Given the description of an element on the screen output the (x, y) to click on. 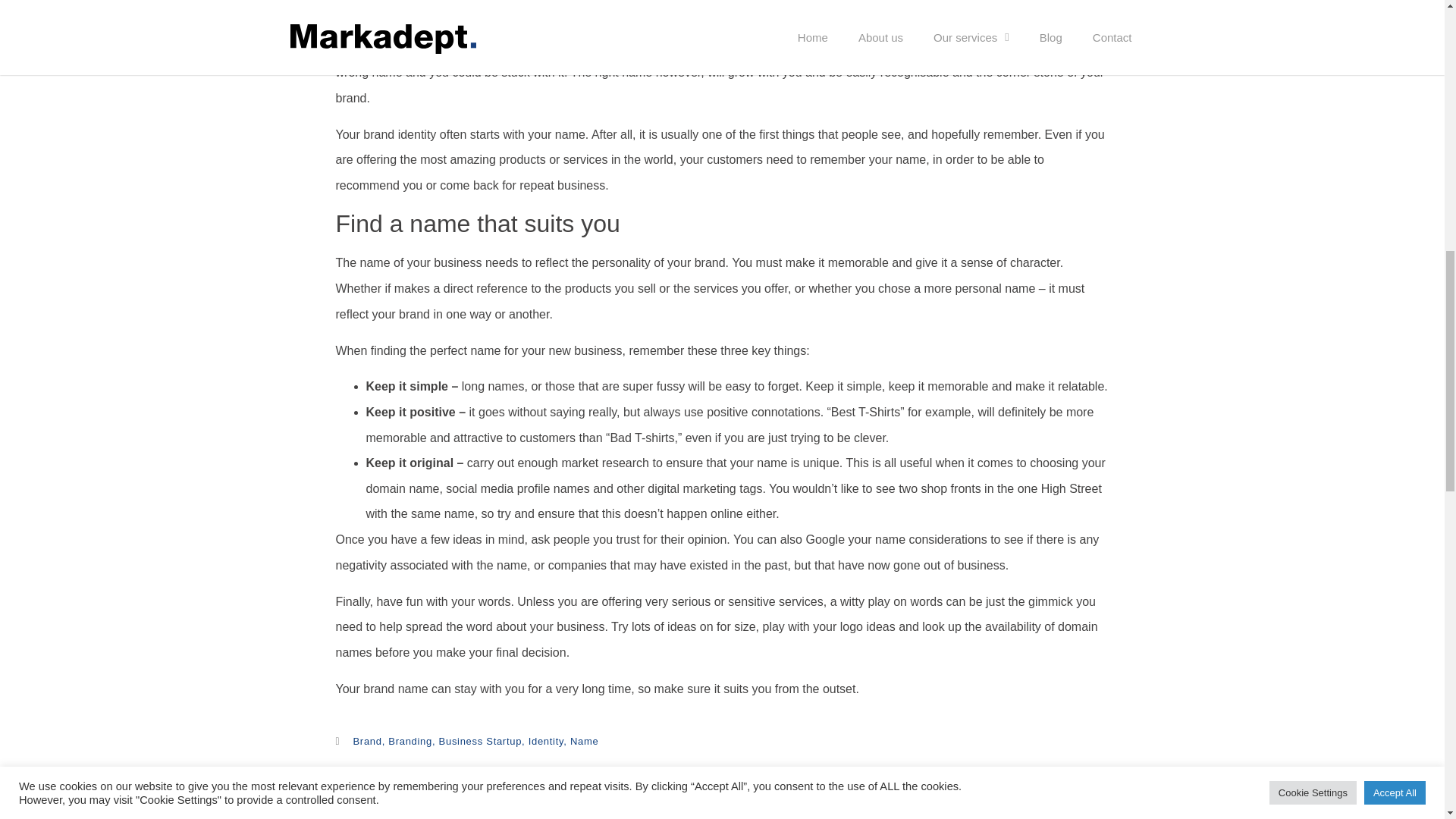
Branding (410, 740)
Business Startup (480, 740)
Brand (367, 740)
